Given the description of an element on the screen output the (x, y) to click on. 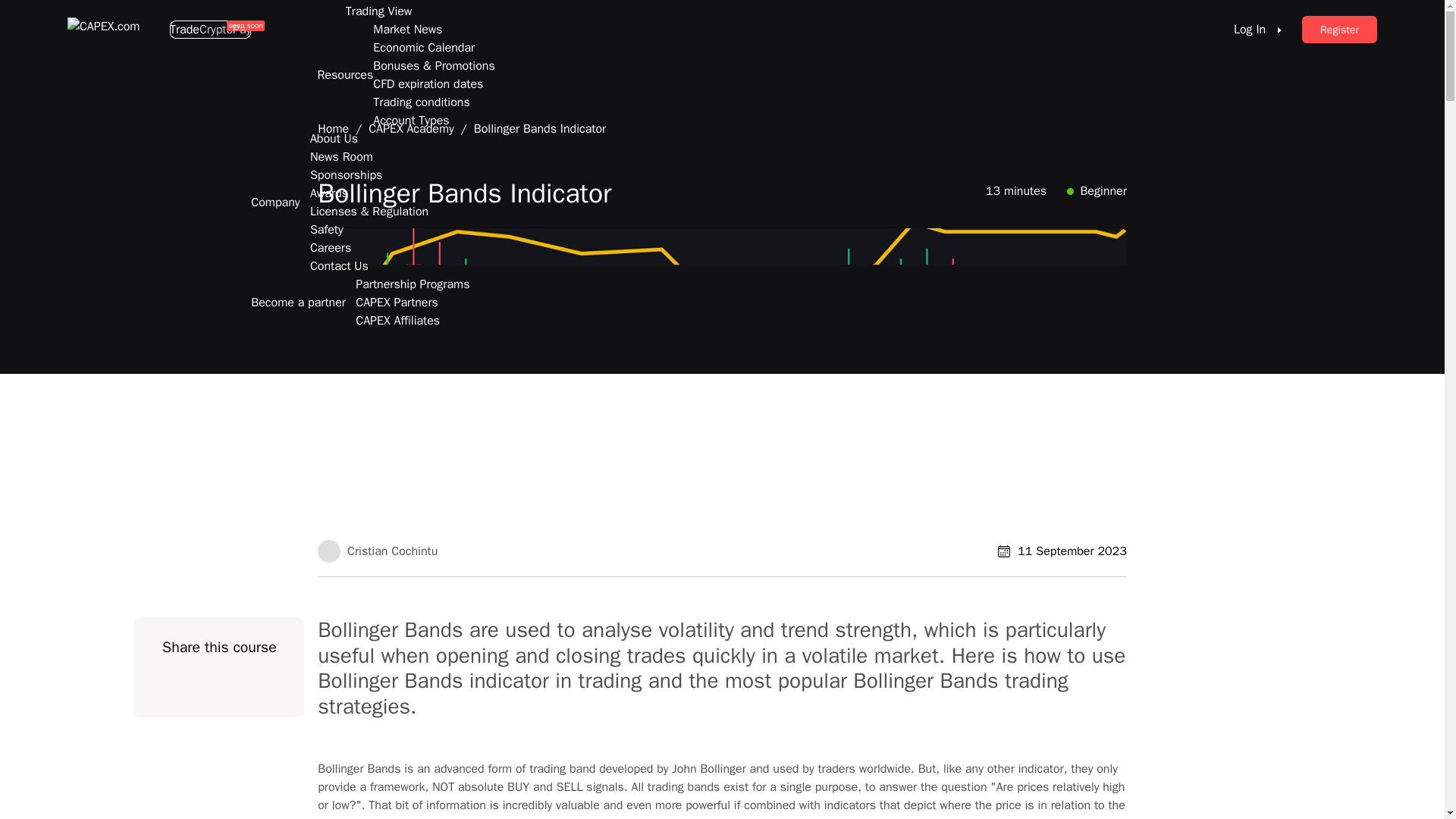
About Us (334, 138)
News Room (341, 157)
Register (1339, 28)
CAPEX Affiliates (397, 321)
Trading conditions (420, 102)
CAPEX.com (106, 29)
Cristian Cochintu (328, 549)
Trade (184, 29)
Safety (326, 229)
CFD expiration dates (427, 84)
Trading View (379, 11)
Article Hero (219, 687)
Market News (407, 29)
Trading Central (385, 1)
CAPEX Partners (396, 302)
